Given the description of an element on the screen output the (x, y) to click on. 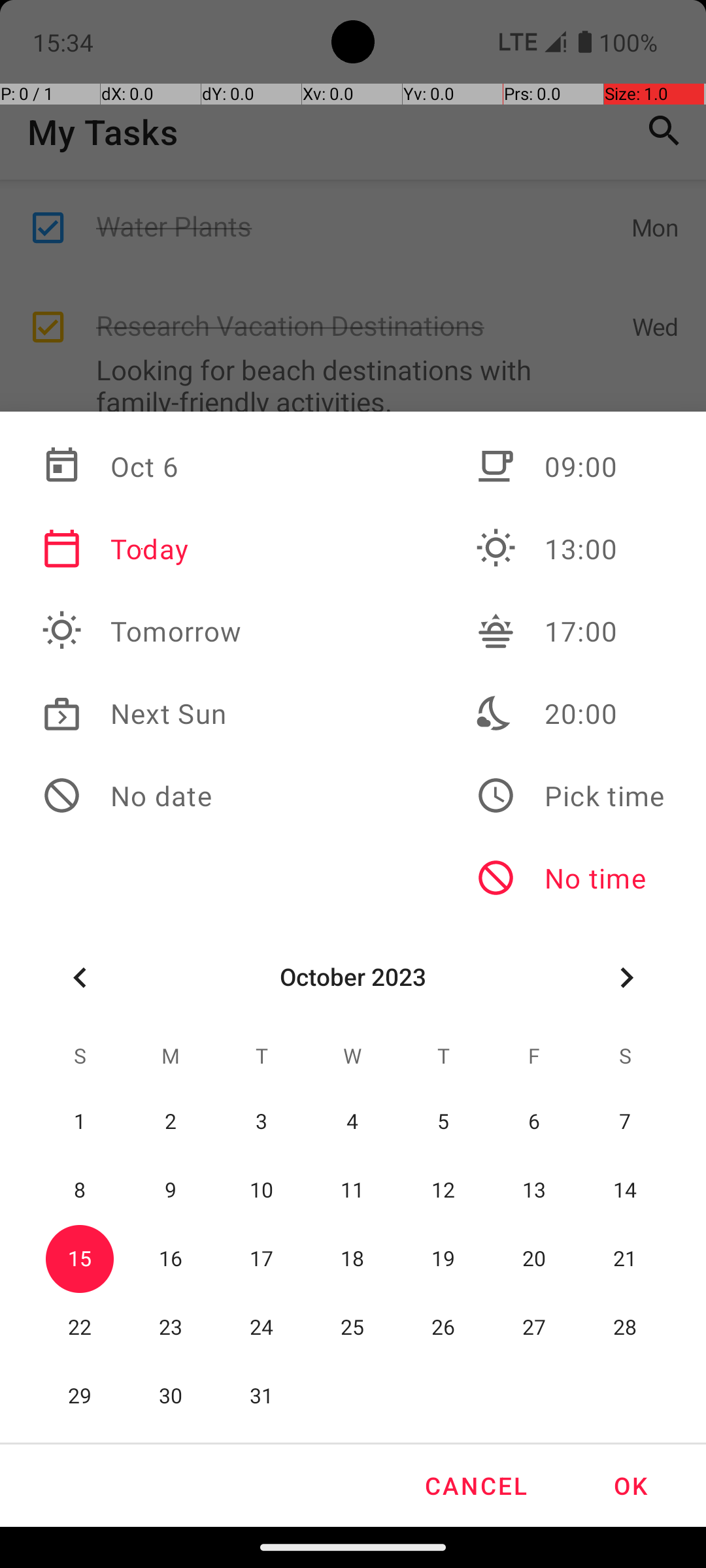
Oct 6 Element type: android.widget.CompoundButton (141, 466)
